Given the description of an element on the screen output the (x, y) to click on. 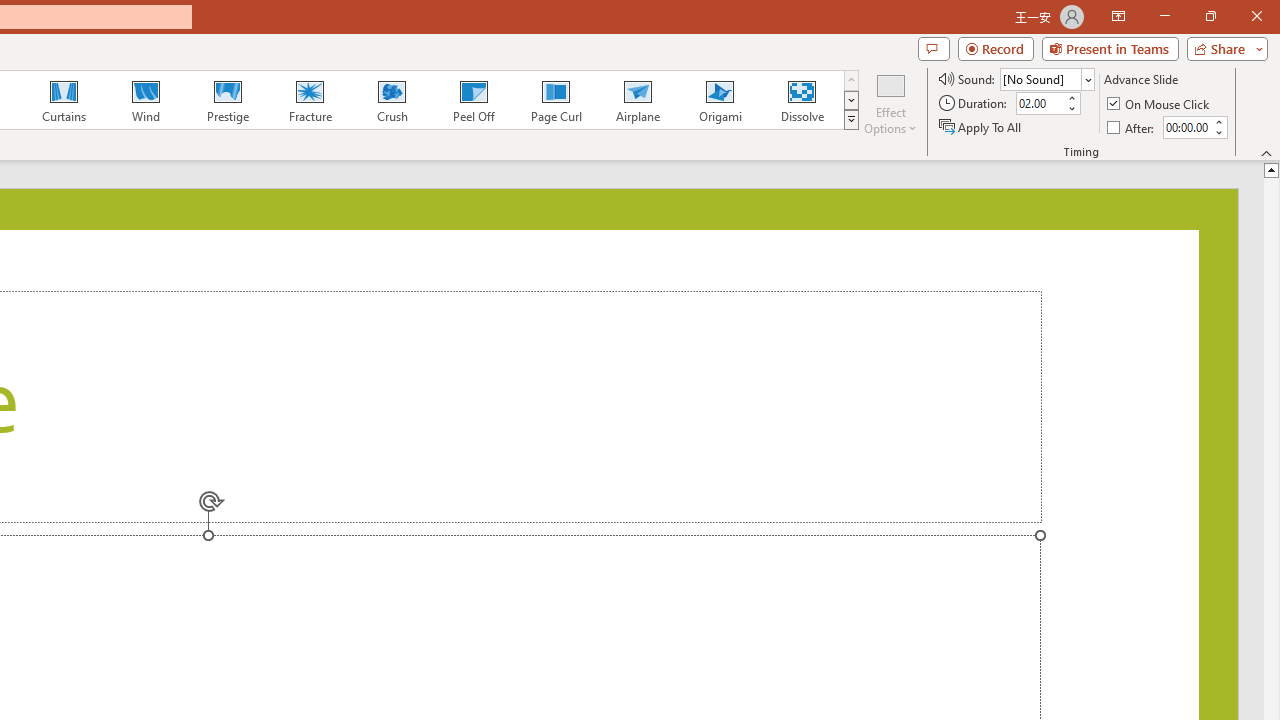
Prestige (227, 100)
More (1218, 121)
Less (1218, 132)
Crush (391, 100)
Sound (1046, 78)
Origami (719, 100)
Effect Options (890, 102)
